Given the description of an element on the screen output the (x, y) to click on. 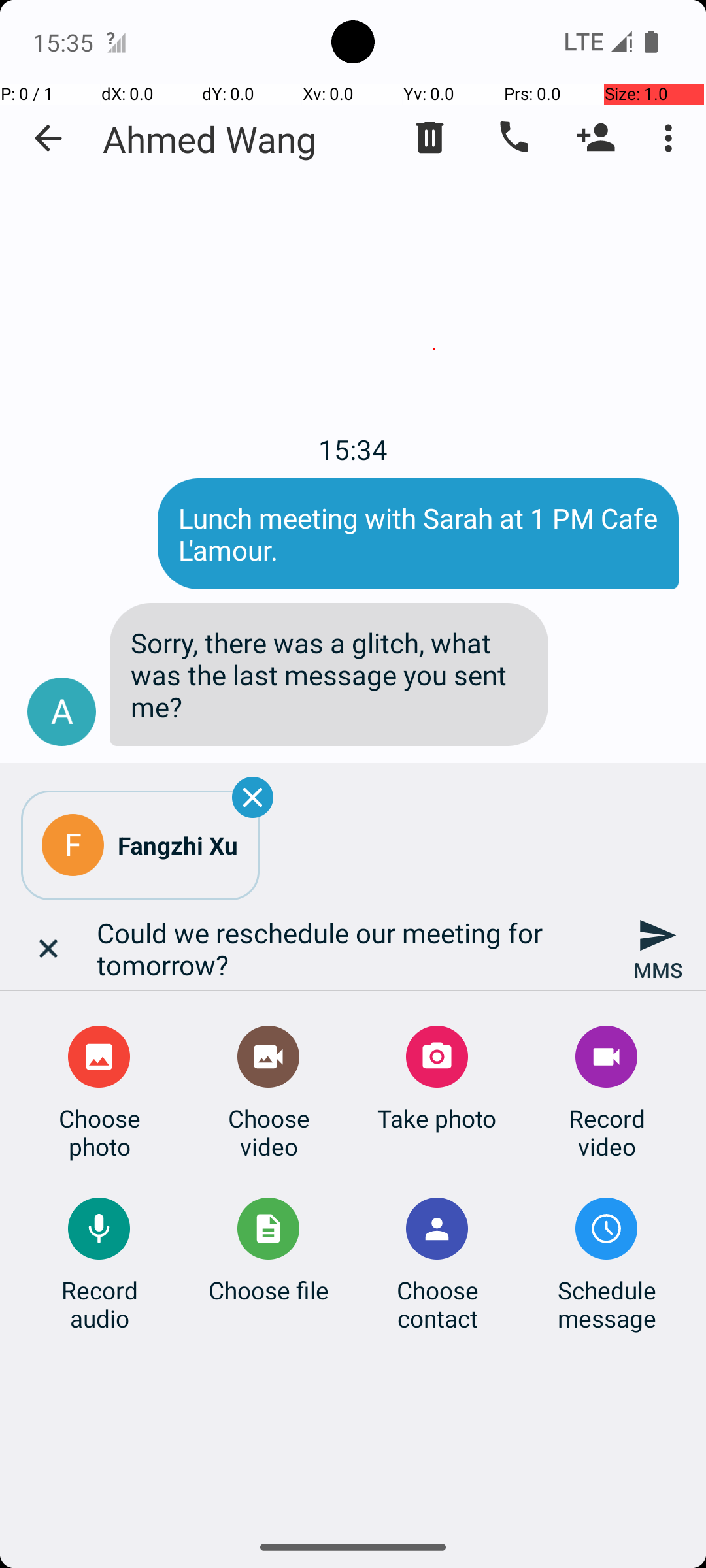
Could we reschedule our meeting for tomorrow? Element type: android.widget.EditText (352, 948)
MMS Element type: android.widget.Button (657, 948)
Lunch meeting with Sarah at 1 PM Cafe L'amour. Element type: android.widget.TextView (417, 533)
Choose photo Element type: android.widget.TextView (98, 1131)
Choose video Element type: android.widget.TextView (268, 1131)
Record video Element type: android.widget.TextView (606, 1131)
Record audio Element type: android.widget.TextView (98, 1303)
Choose file Element type: android.widget.TextView (268, 1289)
Choose contact Element type: android.widget.TextView (436, 1303)
Schedule message Element type: android.widget.TextView (606, 1303)
